Given the description of an element on the screen output the (x, y) to click on. 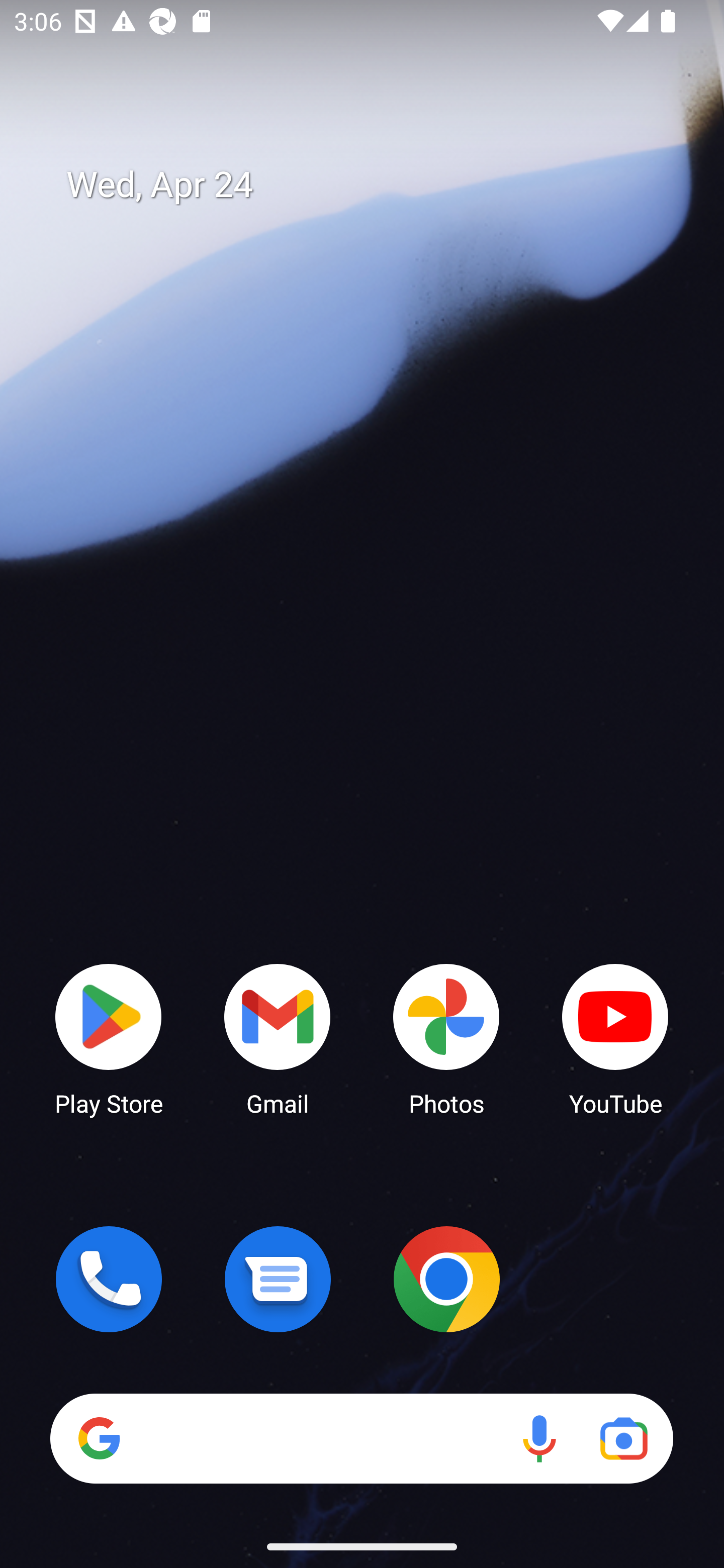
Wed, Apr 24 (375, 184)
Play Store (108, 1038)
Gmail (277, 1038)
Photos (445, 1038)
YouTube (615, 1038)
Phone (108, 1279)
Messages (277, 1279)
Chrome (446, 1279)
Search Voice search Google Lens (361, 1438)
Voice search (539, 1438)
Google Lens (623, 1438)
